Given the description of an element on the screen output the (x, y) to click on. 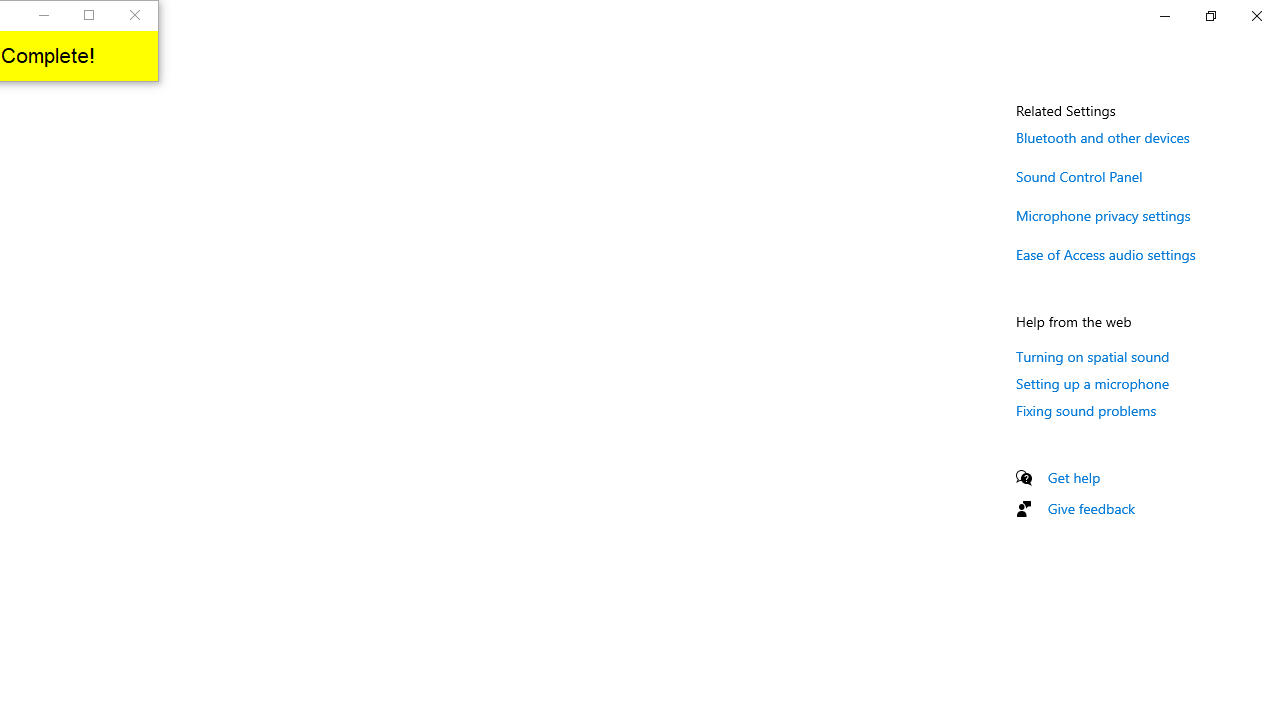
Give feedback (1091, 507)
Ease of Access audio settings (1105, 254)
Sound Control Panel (1079, 176)
Bluetooth and other devices (1103, 137)
Turning on spatial sound (1092, 356)
Microphone privacy settings (1103, 214)
Setting up a microphone (1092, 383)
Fixing sound problems (1086, 410)
